Given the description of an element on the screen output the (x, y) to click on. 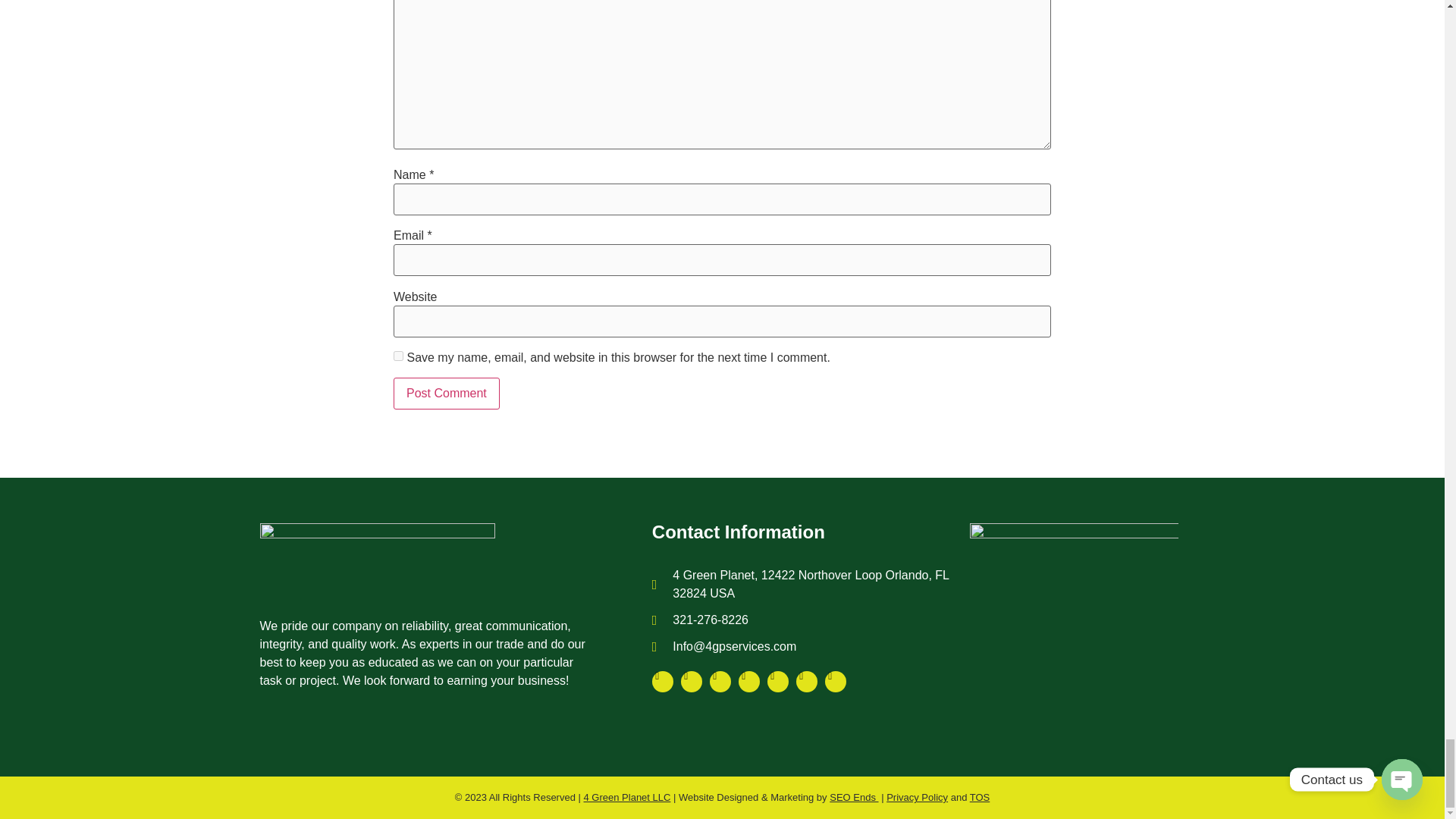
yes (398, 356)
Post Comment (446, 393)
